Given the description of an element on the screen output the (x, y) to click on. 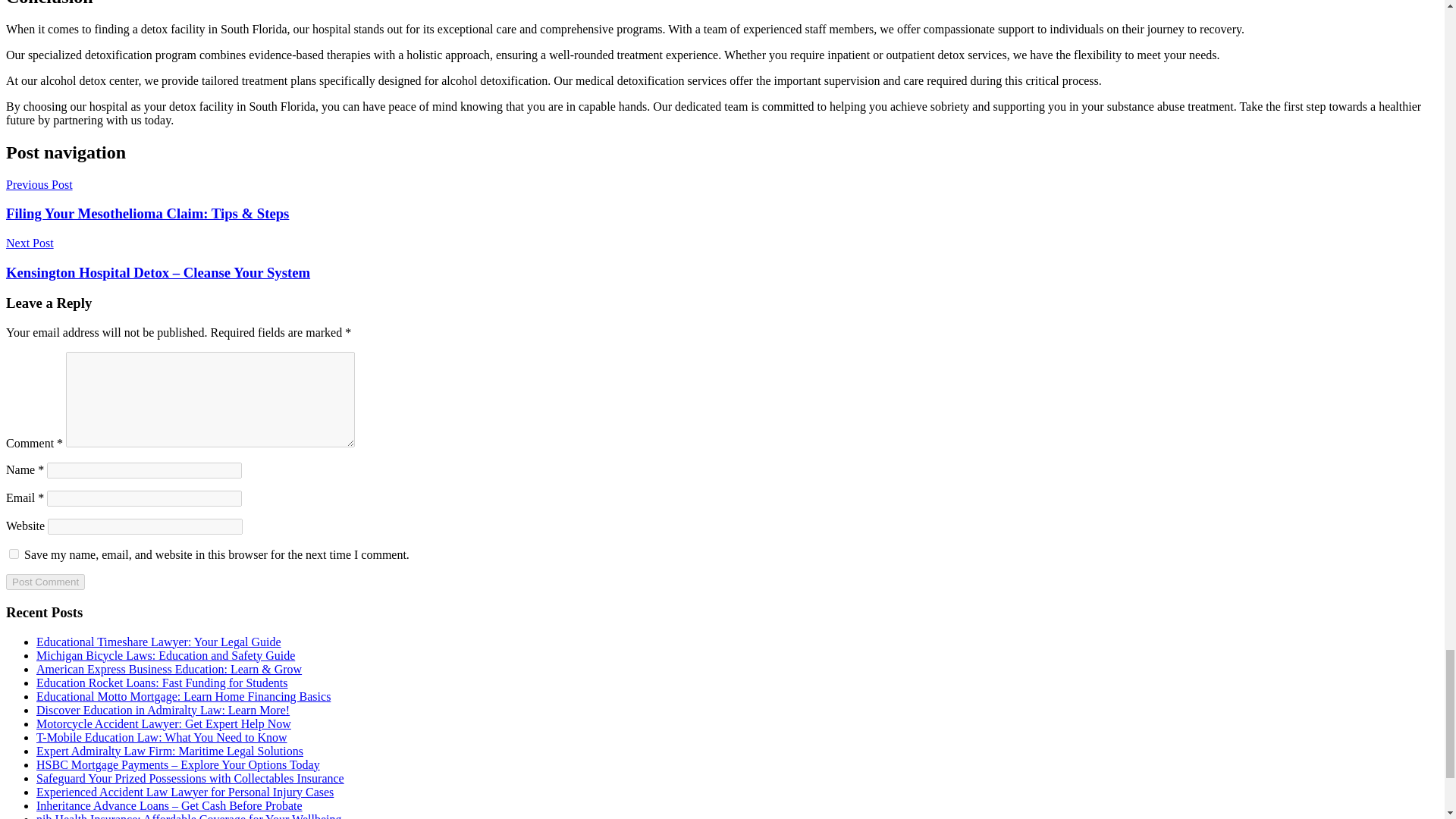
Michigan Bicycle Laws: Education and Safety Guide (165, 655)
yes (13, 553)
Post Comment (44, 581)
Post Comment (44, 581)
nib Health Insurance: Affordable Coverage for Your Wellbeing (188, 816)
Experienced Accident Law Lawyer for Personal Injury Cases (184, 791)
Educational Motto Mortgage: Learn Home Financing Basics (183, 696)
Education Rocket Loans: Fast Funding for Students (162, 682)
Educational Timeshare Lawyer: Your Legal Guide (158, 641)
Discover Education in Admiralty Law: Learn More! (162, 709)
T-Mobile Education Law: What You Need to Know (161, 737)
Motorcycle Accident Lawyer: Get Expert Help Now (163, 723)
Expert Admiralty Law Firm: Maritime Legal Solutions (169, 750)
